Given the description of an element on the screen output the (x, y) to click on. 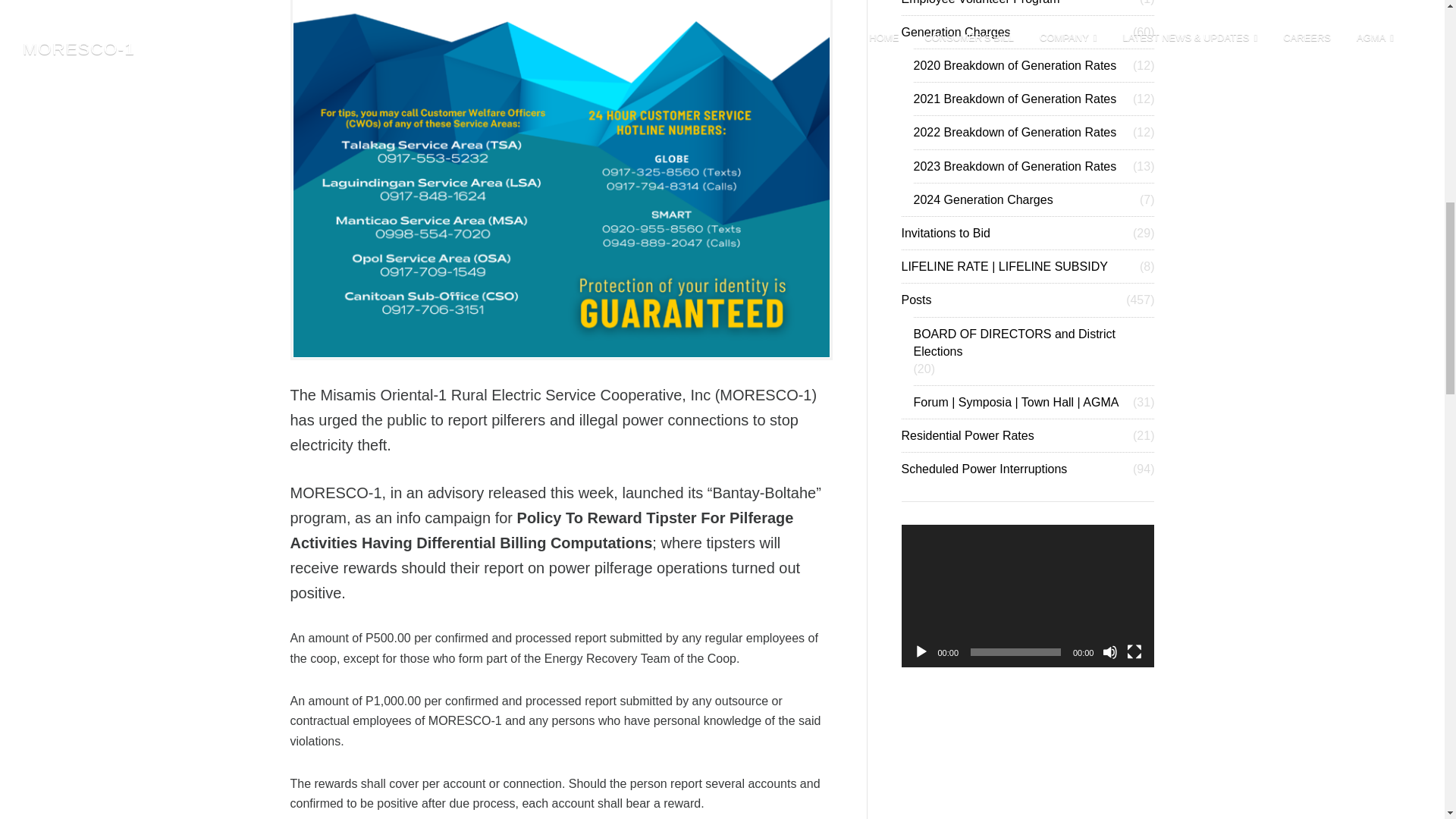
Fullscreen (1133, 652)
Play (920, 652)
Mute (1110, 652)
